Given the description of an element on the screen output the (x, y) to click on. 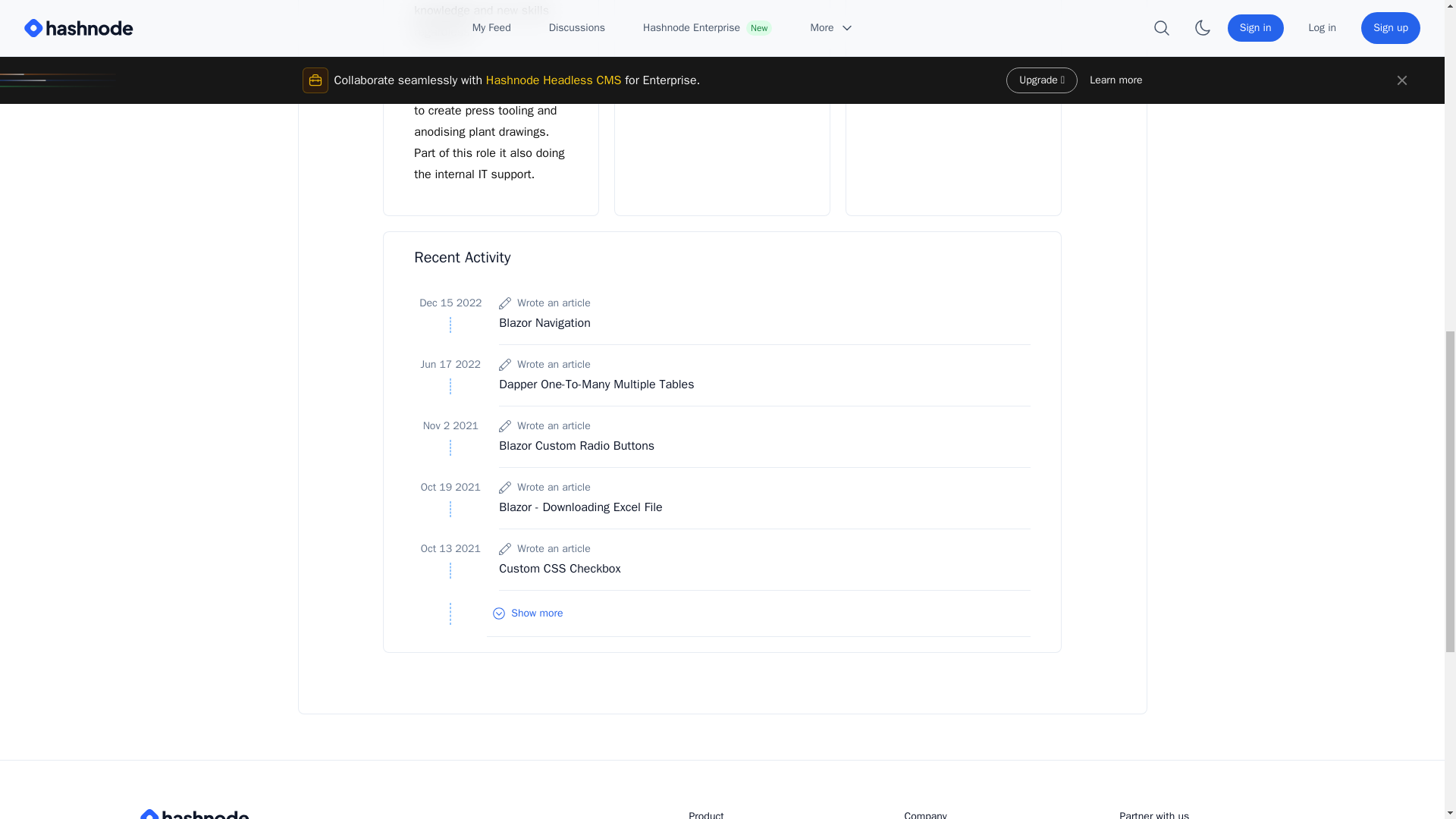
Dapper One-To-Many Multiple Tables (596, 384)
Custom CSS Checkbox (559, 568)
Blazor Navigation (544, 322)
Hashnode (260, 814)
Blazor Custom Radio Buttons (576, 445)
Show more (757, 613)
Blazor - Downloading Excel File (580, 507)
